Given the description of an element on the screen output the (x, y) to click on. 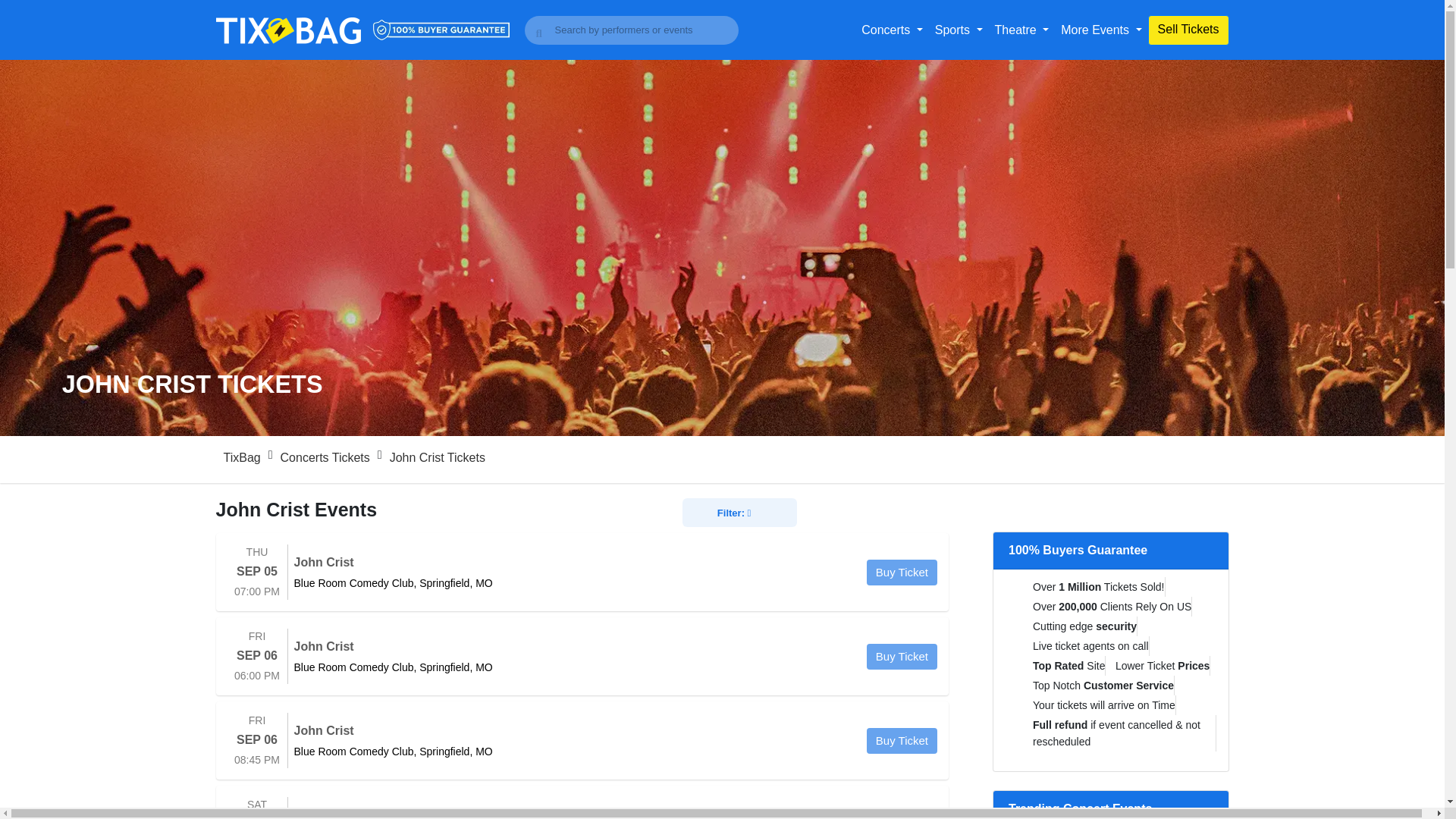
Concerts (892, 30)
Sports (958, 30)
Best Way To Sell Tickets Online For Free (1188, 30)
Buyer Guarantee (440, 29)
